Given the description of an element on the screen output the (x, y) to click on. 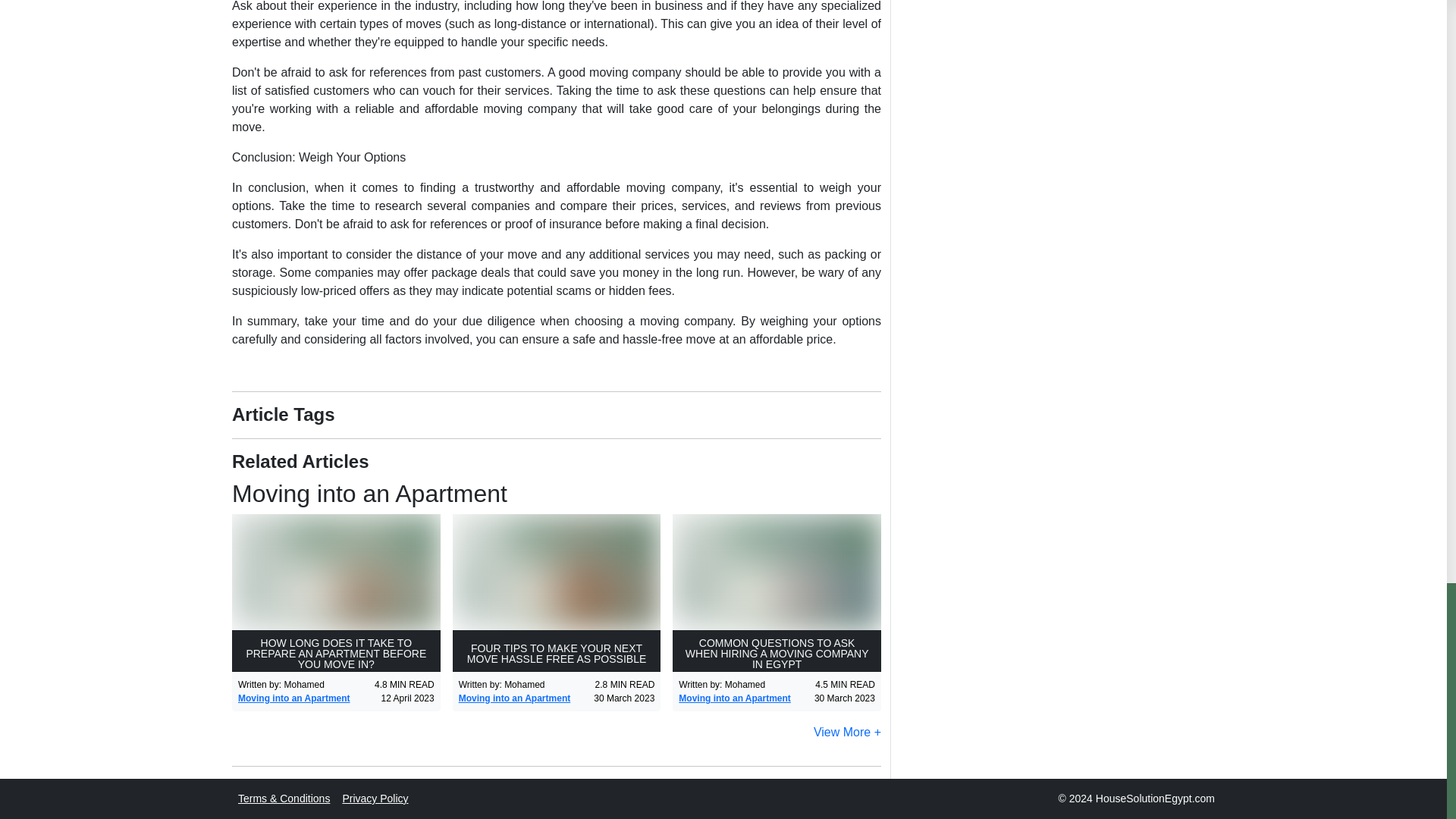
FOUR TIPS TO MAKE YOUR NEXT MOVE HASSLE FREE AS POSSIBLE (556, 592)
HouseSolutionEgypt.com (1155, 798)
Moving into an Apartment (514, 697)
Moving into an Apartment (514, 697)
Moving into an Apartment (734, 697)
Moving into an Apartment (294, 697)
FOUR TIPS TO MAKE YOUR NEXT MOVE HASSLE FREE AS POSSIBLE (556, 592)
Moving into an Apartment (734, 697)
Moving into an Apartment (294, 697)
Privacy Policy (374, 798)
Moving into an Apartment (555, 493)
